Given the description of an element on the screen output the (x, y) to click on. 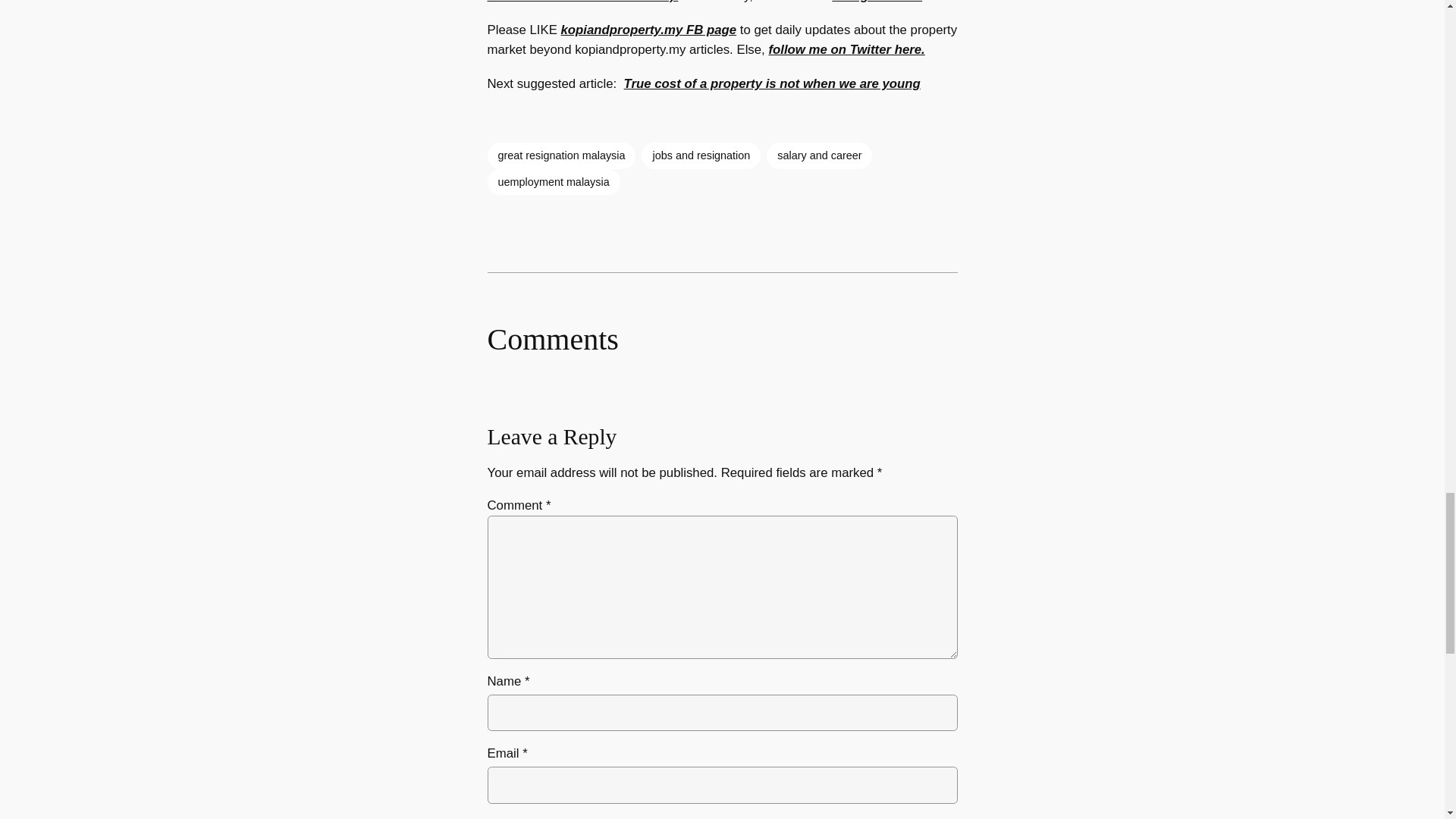
 Telegram here (876, 1)
kopiandproperty.my FB page (648, 29)
jobs and resignation (701, 155)
uemployment malaysia (553, 181)
follow me on Twitter here. (846, 49)
True cost of a property is not when we are young (772, 83)
salary and career (819, 155)
great resignation malaysia (560, 155)
